Given the description of an element on the screen output the (x, y) to click on. 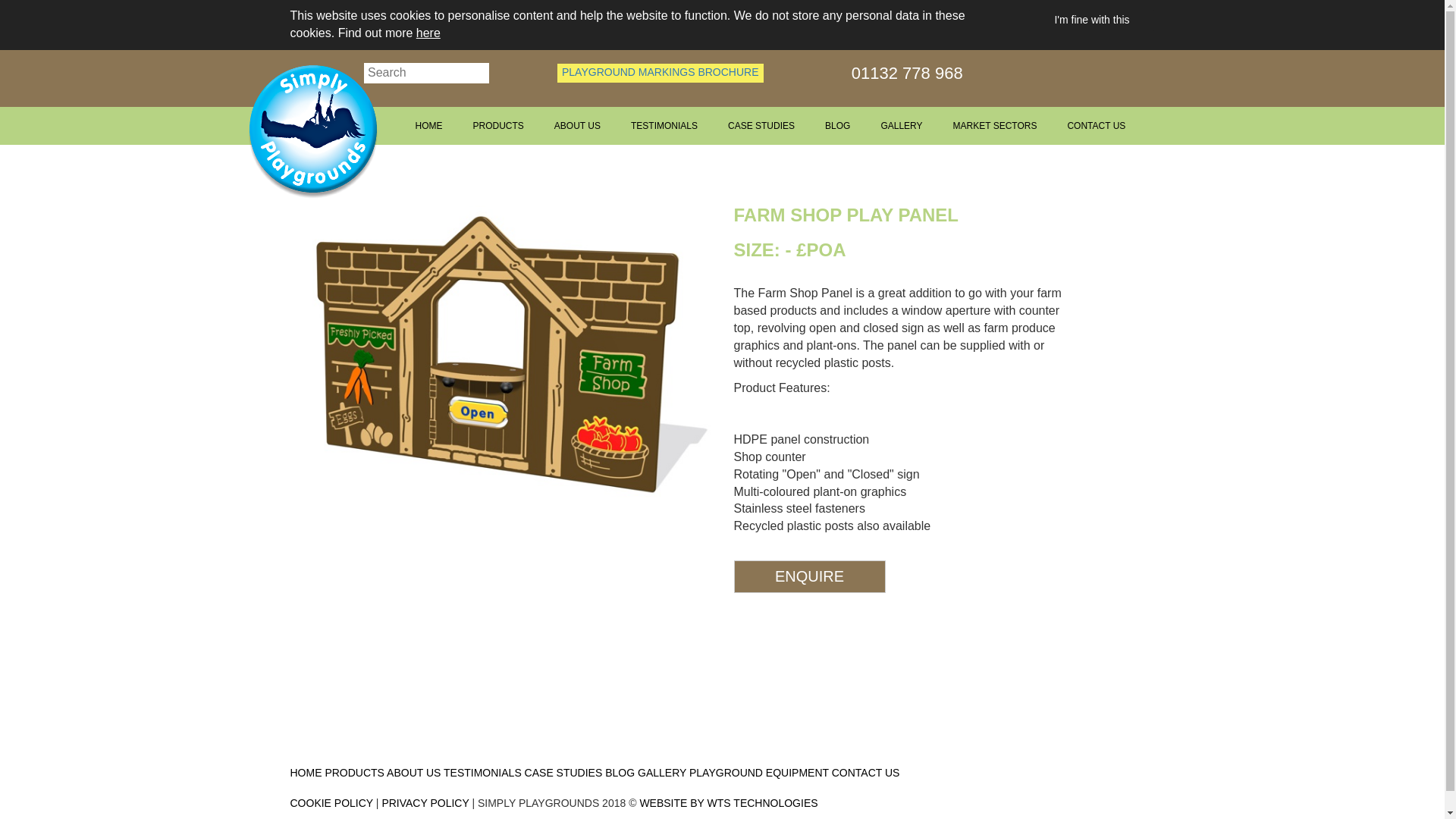
here (428, 32)
PLAYGROUND MARKINGS BROCHURE (659, 72)
PLAYGROUND MARKINGS BROCHURE (637, 71)
I'm fine with this (1091, 20)
